Given the description of an element on the screen output the (x, y) to click on. 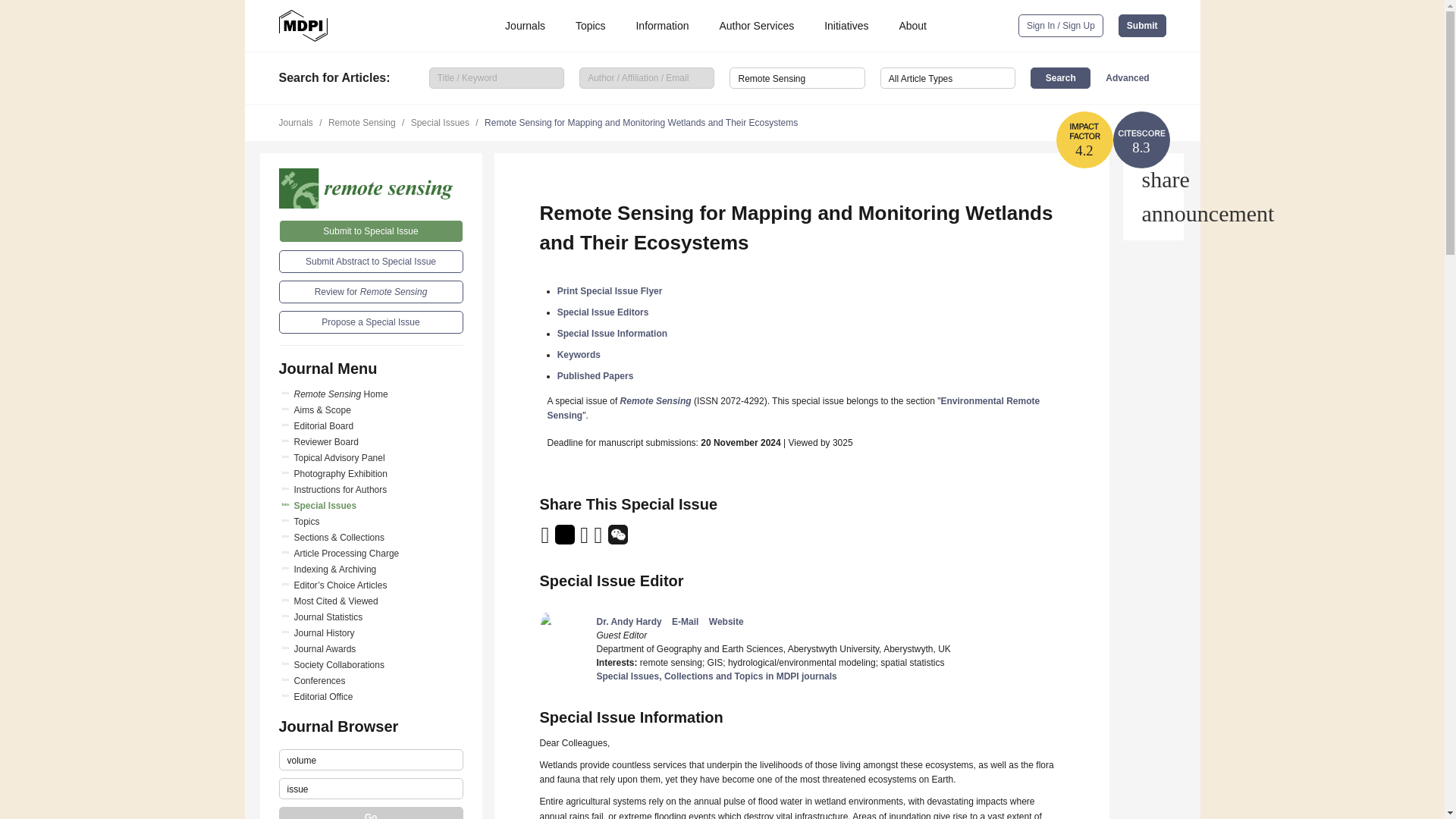
Search (1060, 77)
facebook (599, 539)
Wechat (617, 539)
Twitter (565, 539)
Help (1152, 213)
Share (1152, 179)
MDPI Open Access Journals (303, 25)
Go (371, 812)
Search (1060, 77)
Remote Sensing (371, 188)
LinkedIn (585, 539)
Email (546, 539)
